Given the description of an element on the screen output the (x, y) to click on. 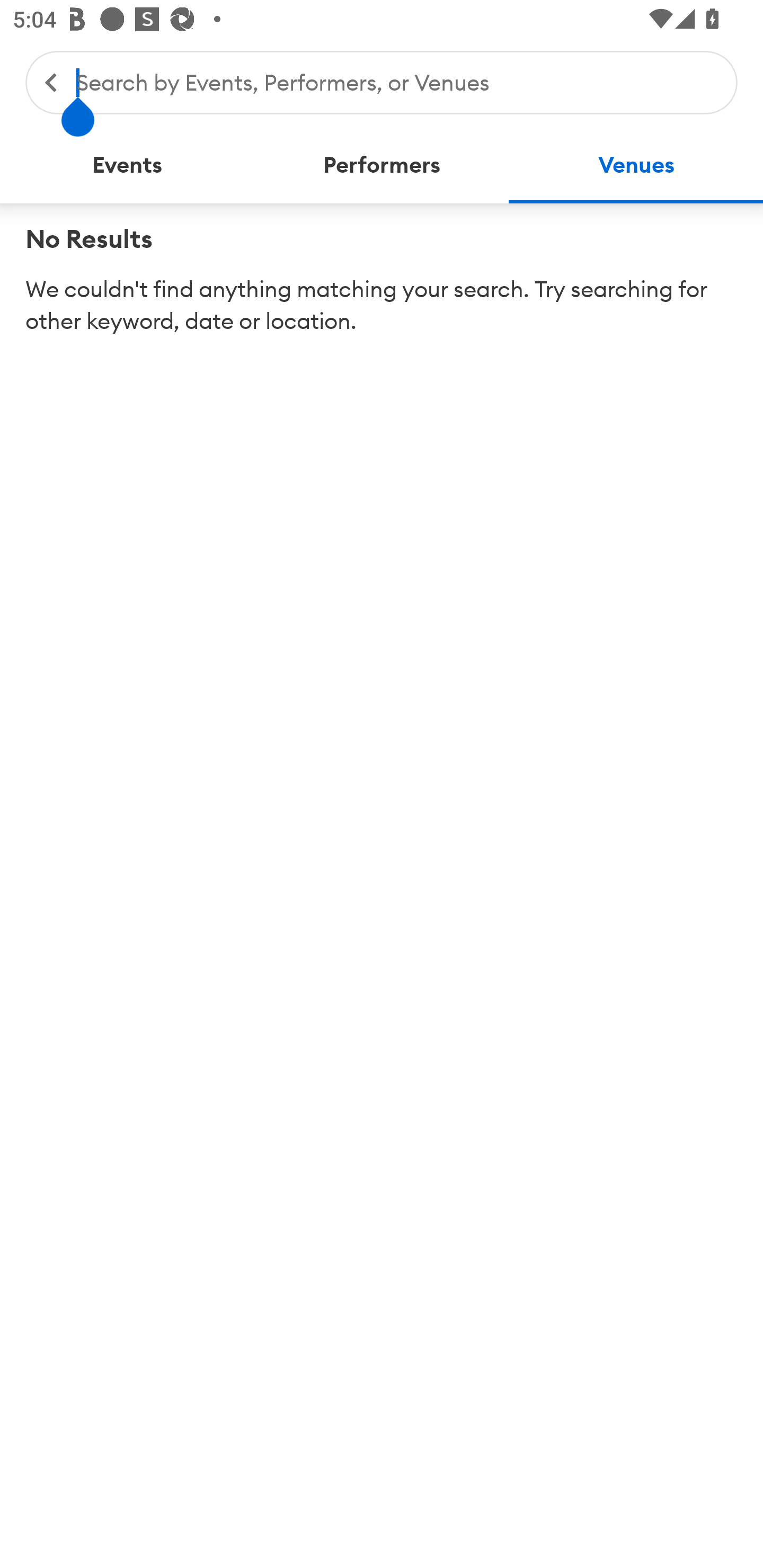
Events (127, 165)
Performers (381, 165)
